Given the description of an element on the screen output the (x, y) to click on. 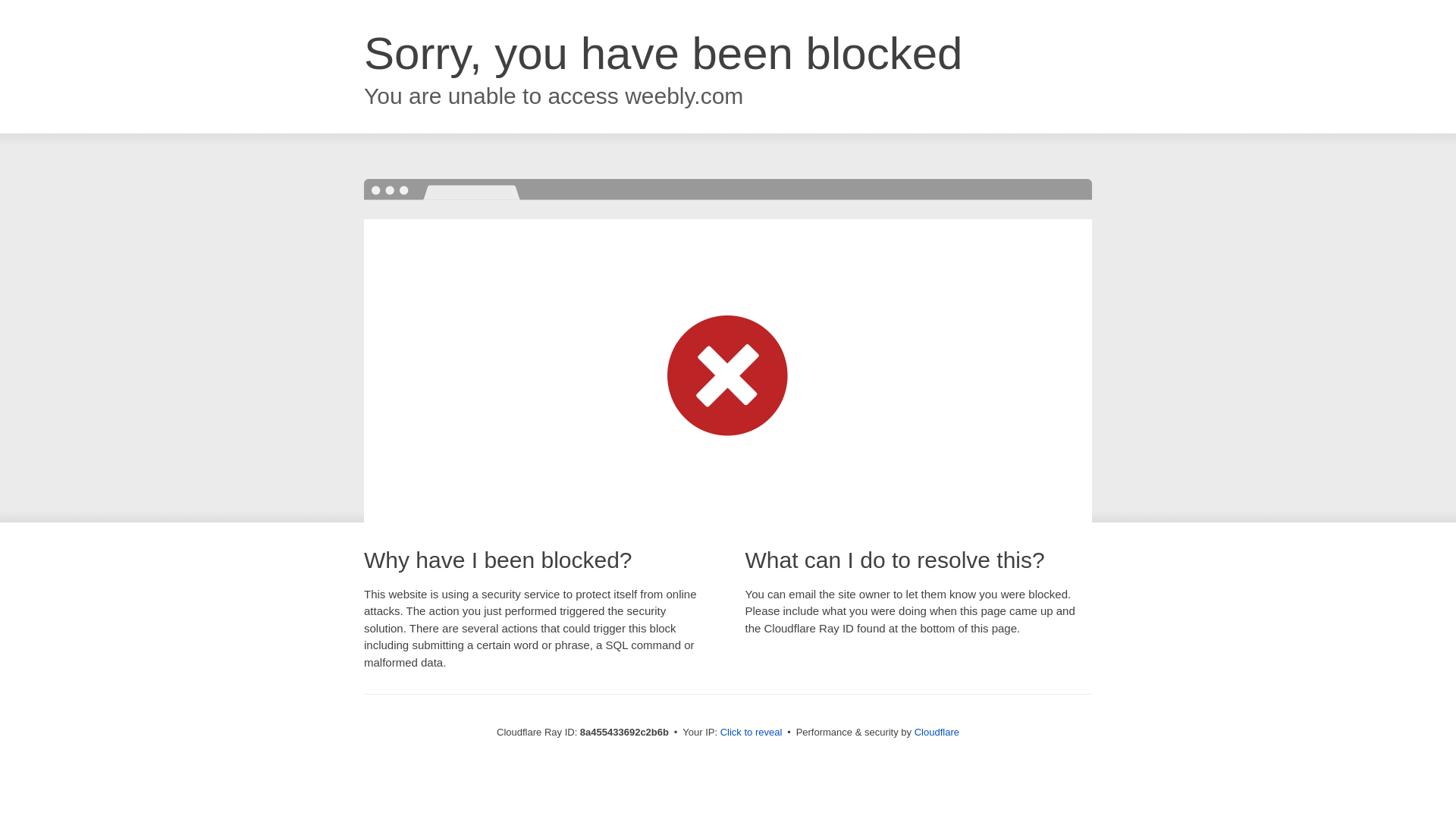
Click to reveal (751, 732)
Cloudflare (936, 731)
